Given the description of an element on the screen output the (x, y) to click on. 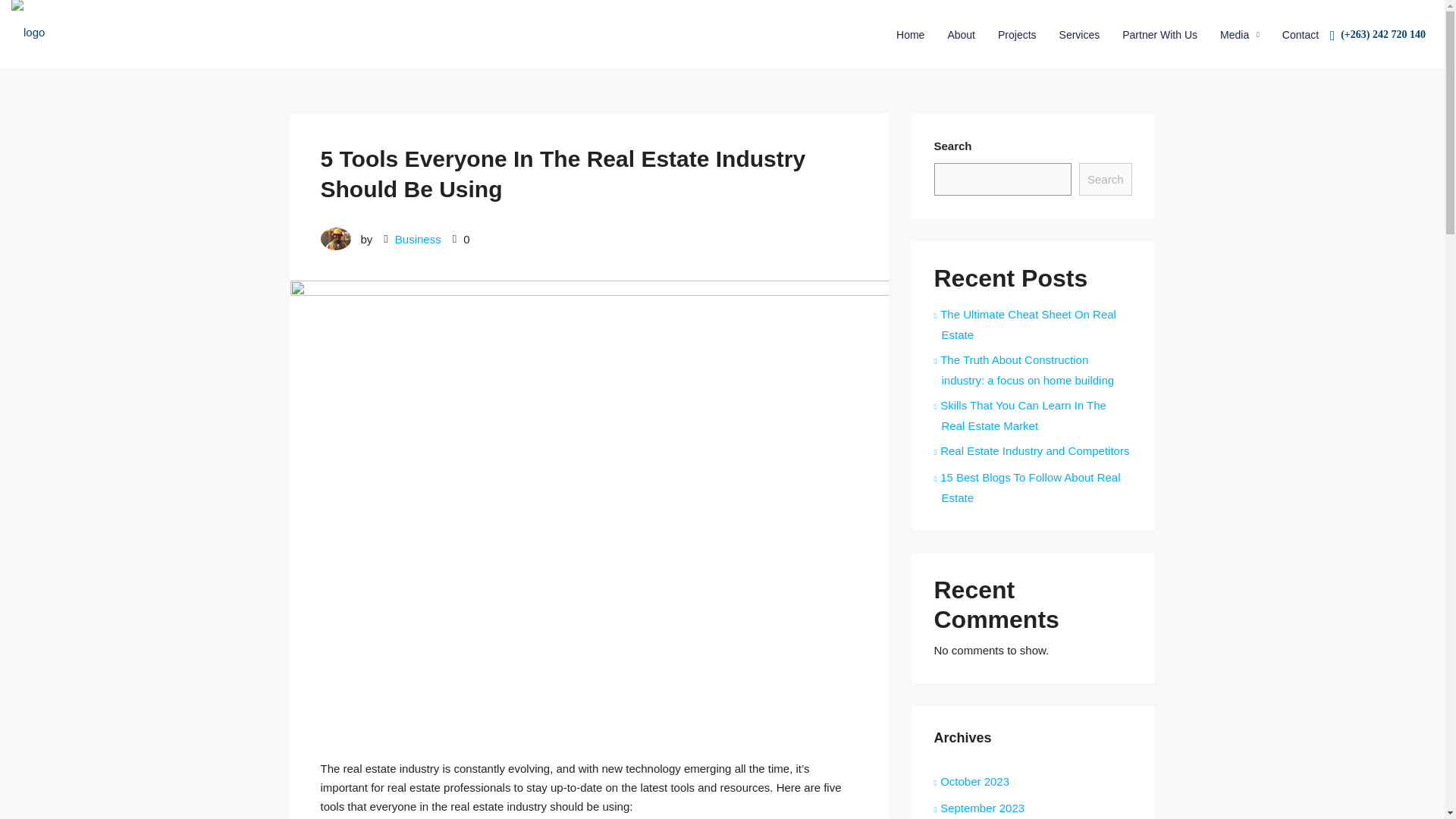
Business (417, 238)
The Ultimate Cheat Sheet On Real Estate (1025, 324)
Partner With Us (1159, 34)
Services (1080, 34)
Search (1105, 178)
Media (1239, 34)
Real Estate Industry and Competitors (1031, 450)
Projects (1017, 34)
Skills That You Can Learn In The Real Estate Market (1020, 415)
